Given the description of an element on the screen output the (x, y) to click on. 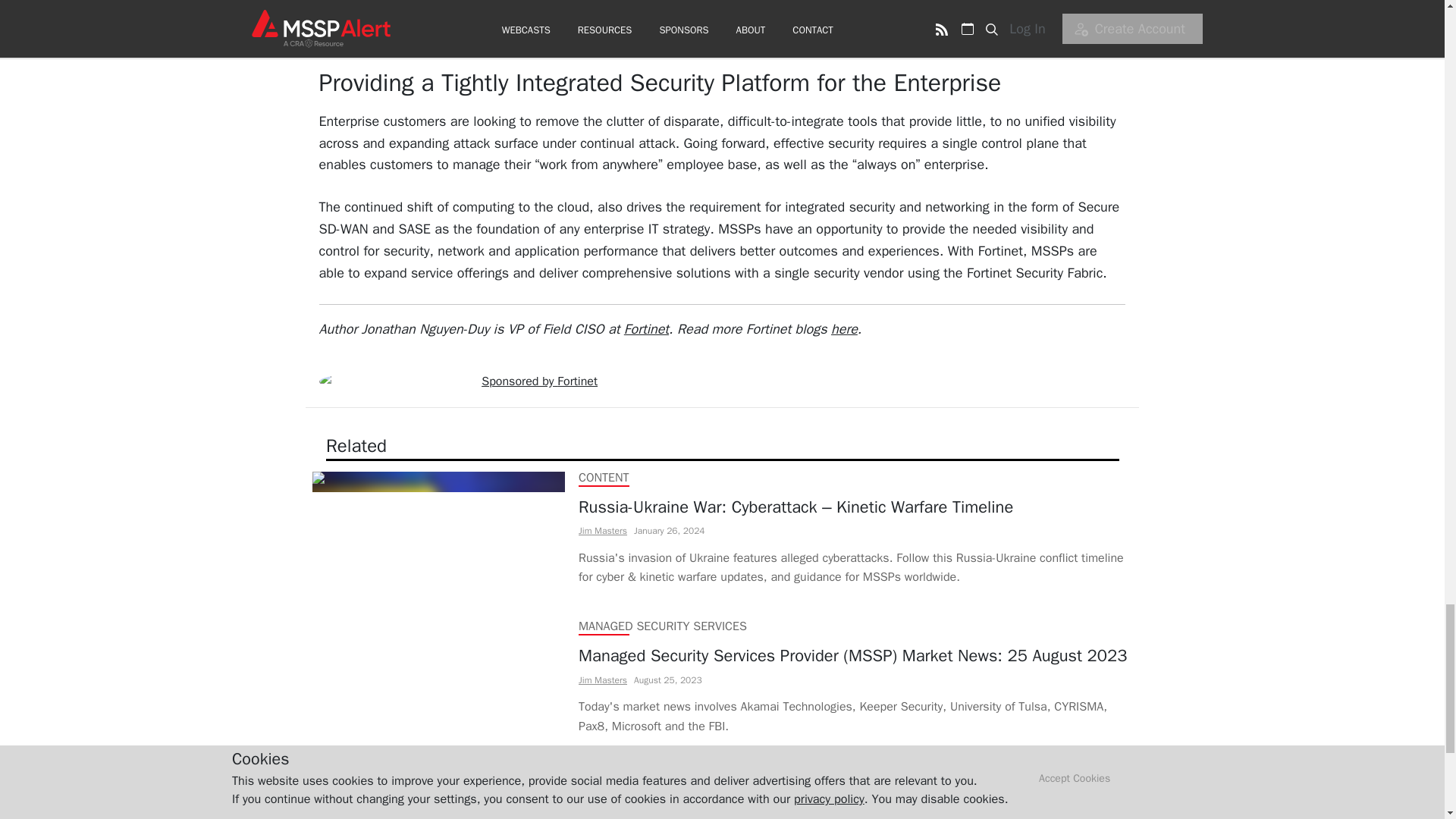
Jim Masters (602, 531)
Fortinet (646, 329)
here (844, 329)
Sponsored by Fortinet (538, 381)
CONTENT (603, 477)
MANAGED SECURITY SERVICES (661, 626)
Jim Masters (602, 680)
CONTENT (603, 774)
